Given the description of an element on the screen output the (x, y) to click on. 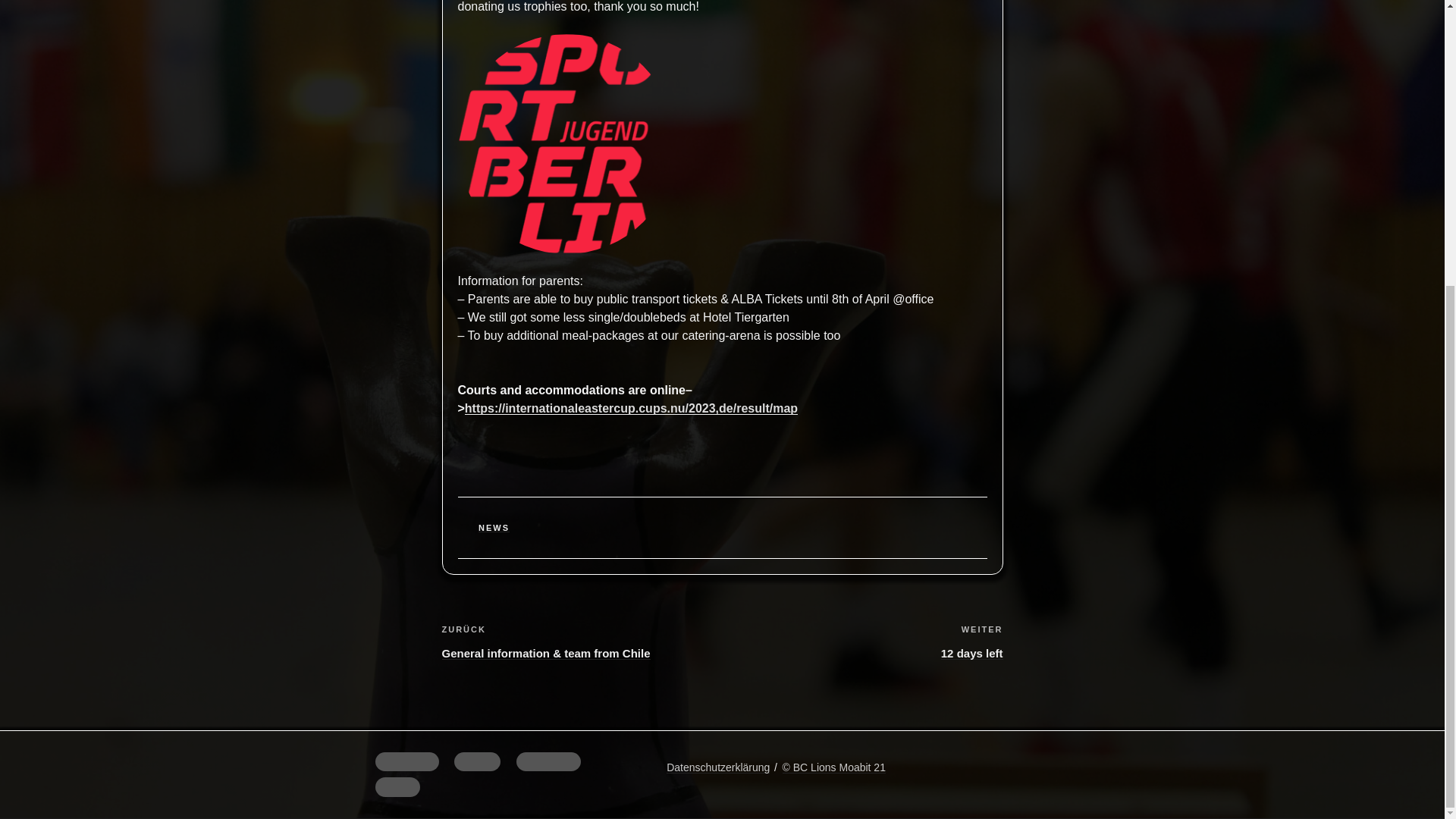
Twitter (477, 762)
E-Mail (396, 786)
Facebook (406, 762)
Instagram (548, 762)
NEWS (494, 527)
